Given the description of an element on the screen output the (x, y) to click on. 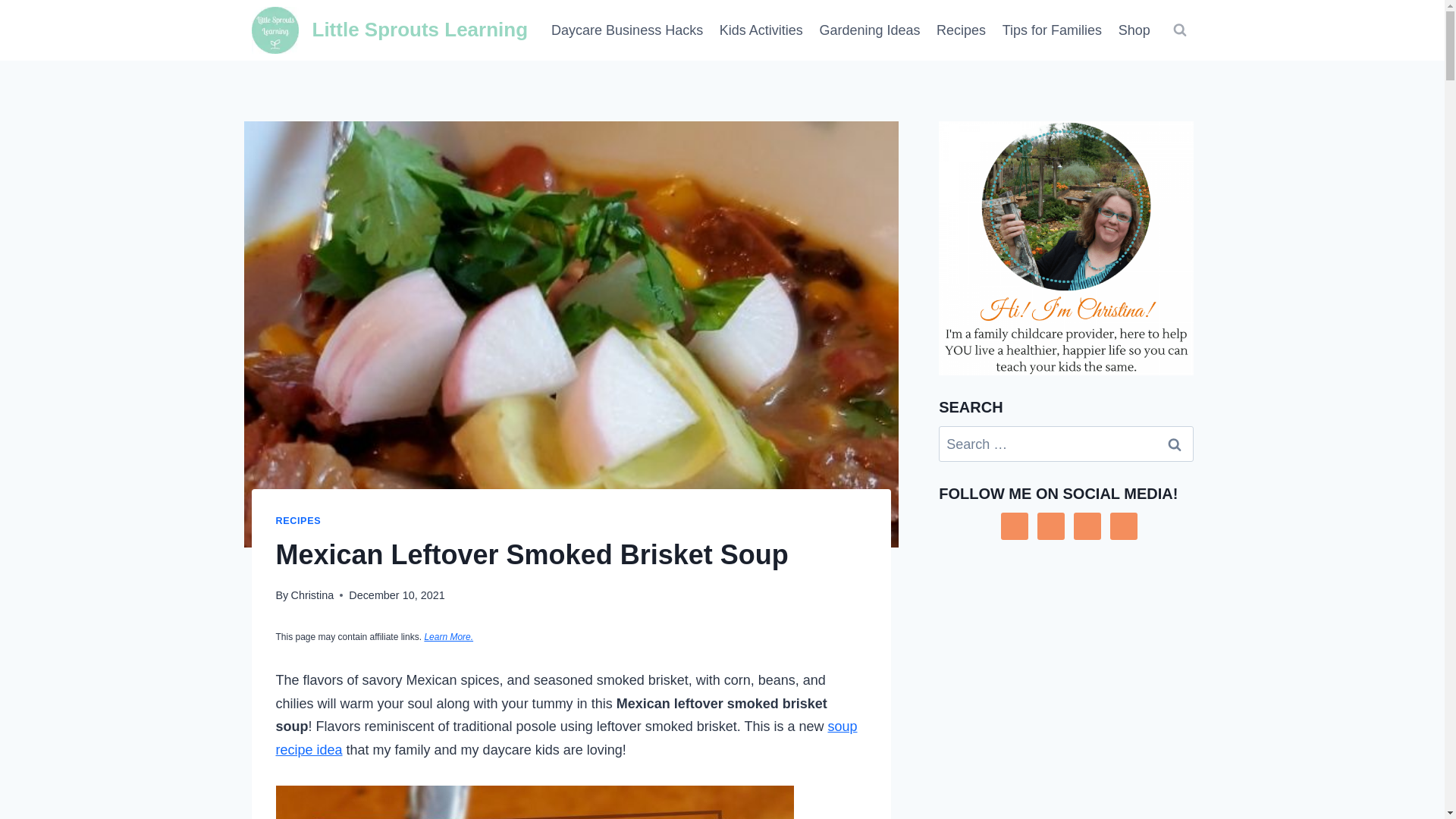
Search (1174, 443)
Daycare Business Hacks (627, 29)
RECIPES (298, 520)
tips for families, child development (1051, 29)
Search (1174, 443)
soup recipe idea (566, 738)
Tips for Families (1051, 29)
Gardening Ideas (869, 29)
